Given the description of an element on the screen output the (x, y) to click on. 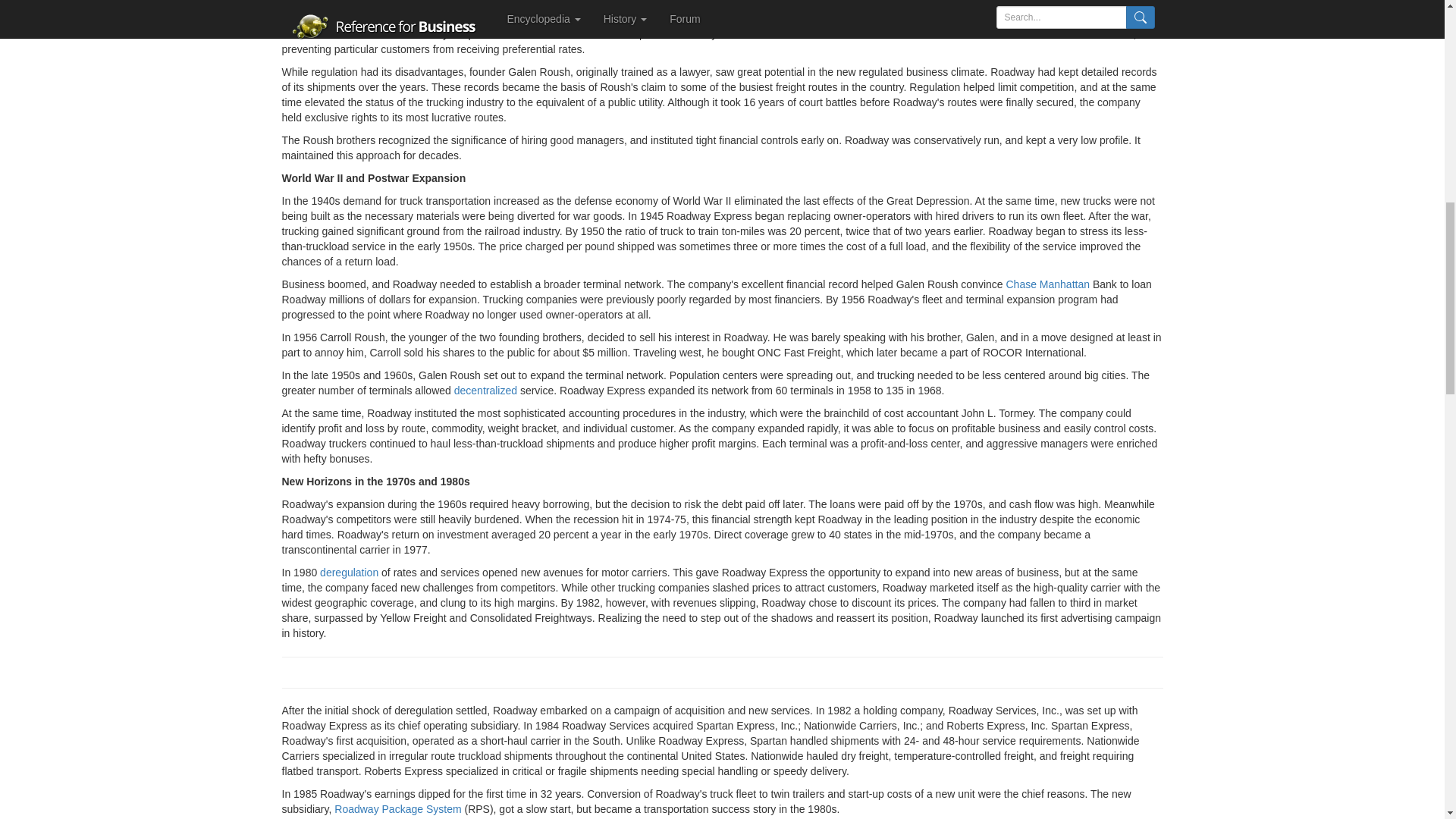
View 'decentralized' definition from Wikipedia (485, 390)
decentralized (485, 390)
Roadway Package System (397, 808)
View 'deregulation' definition from Wikipedia (349, 572)
deregulation (349, 572)
Interstate Commerce Commission (911, 33)
View 'roadway package system' definition from Wikipedia (397, 808)
Chase Manhattan (1047, 284)
View 'chase manhattan' definition from Wikipedia (1047, 284)
